Given the description of an element on the screen output the (x, y) to click on. 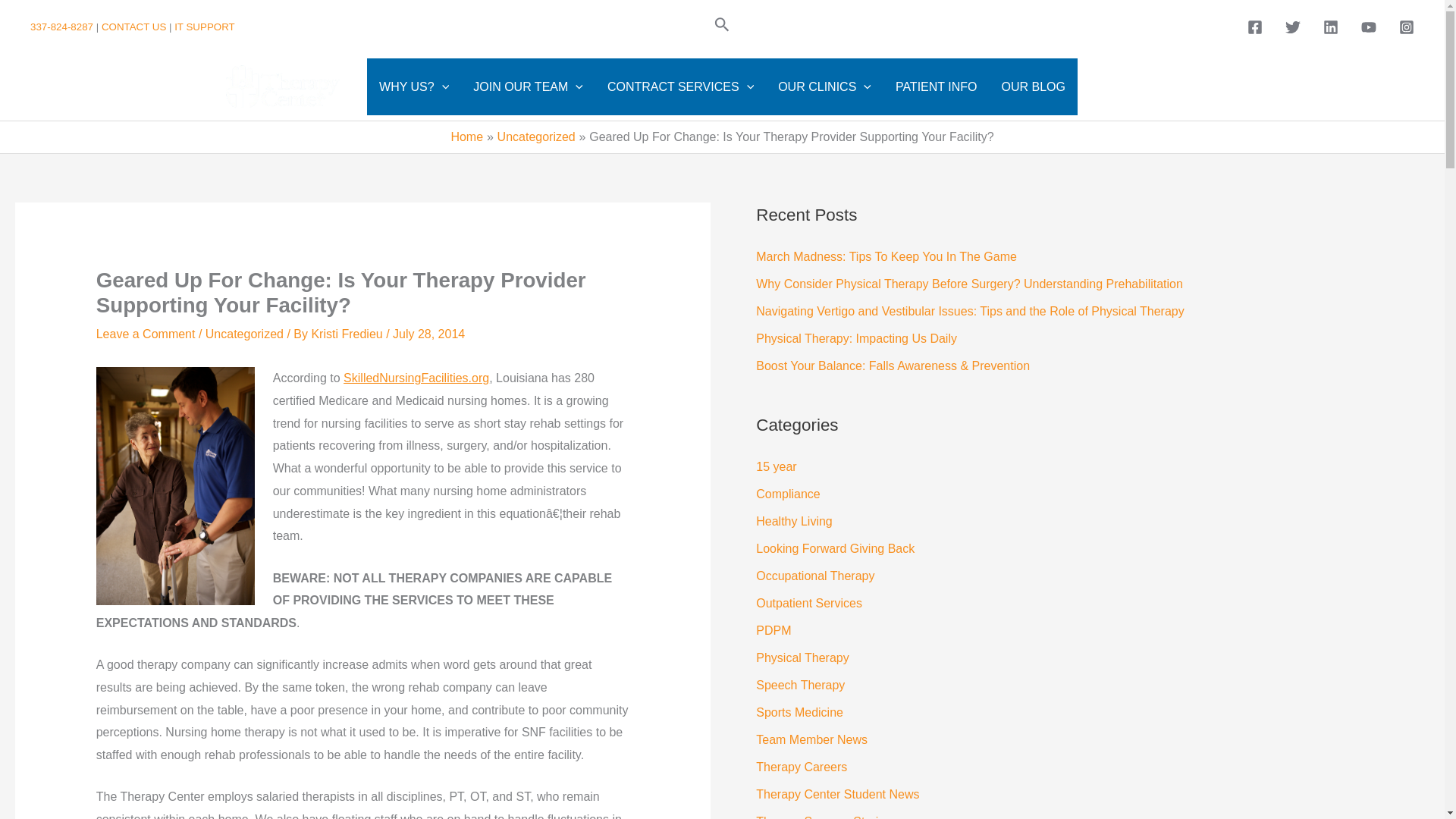
CONTRACT SERVICES (680, 86)
CONTACT US (133, 26)
View all posts by Kristi Fredieu (348, 333)
OUR CLINICS (824, 86)
IT SUPPORT (204, 26)
337-824-8287 (63, 26)
WHY US? (413, 86)
JOIN OUR TEAM (528, 86)
